Given the description of an element on the screen output the (x, y) to click on. 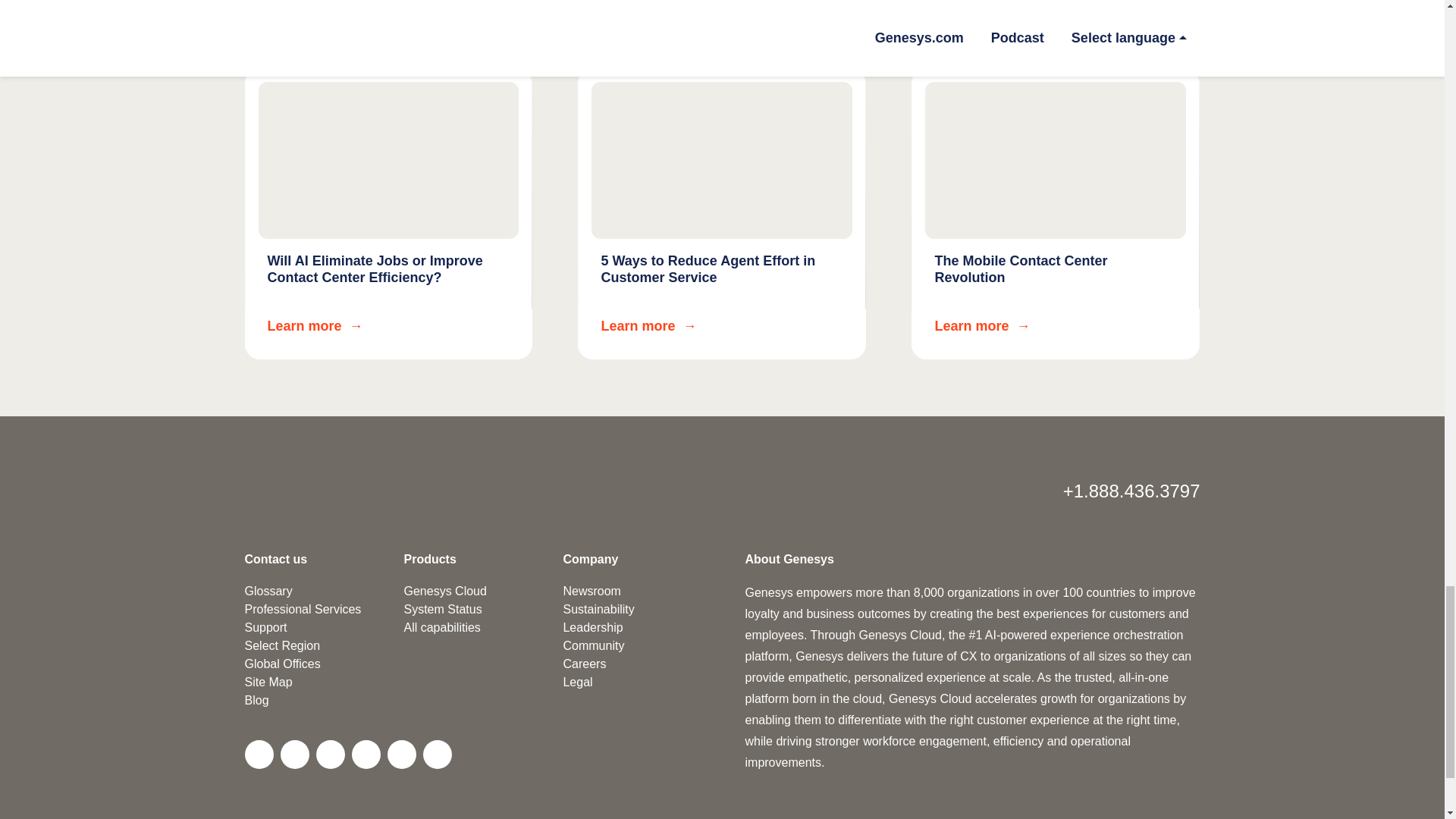
Select Region (282, 645)
Global Offices (282, 663)
Professional Services (302, 608)
Support (722, 213)
Glossary (265, 626)
Contact us (268, 590)
